Given the description of an element on the screen output the (x, y) to click on. 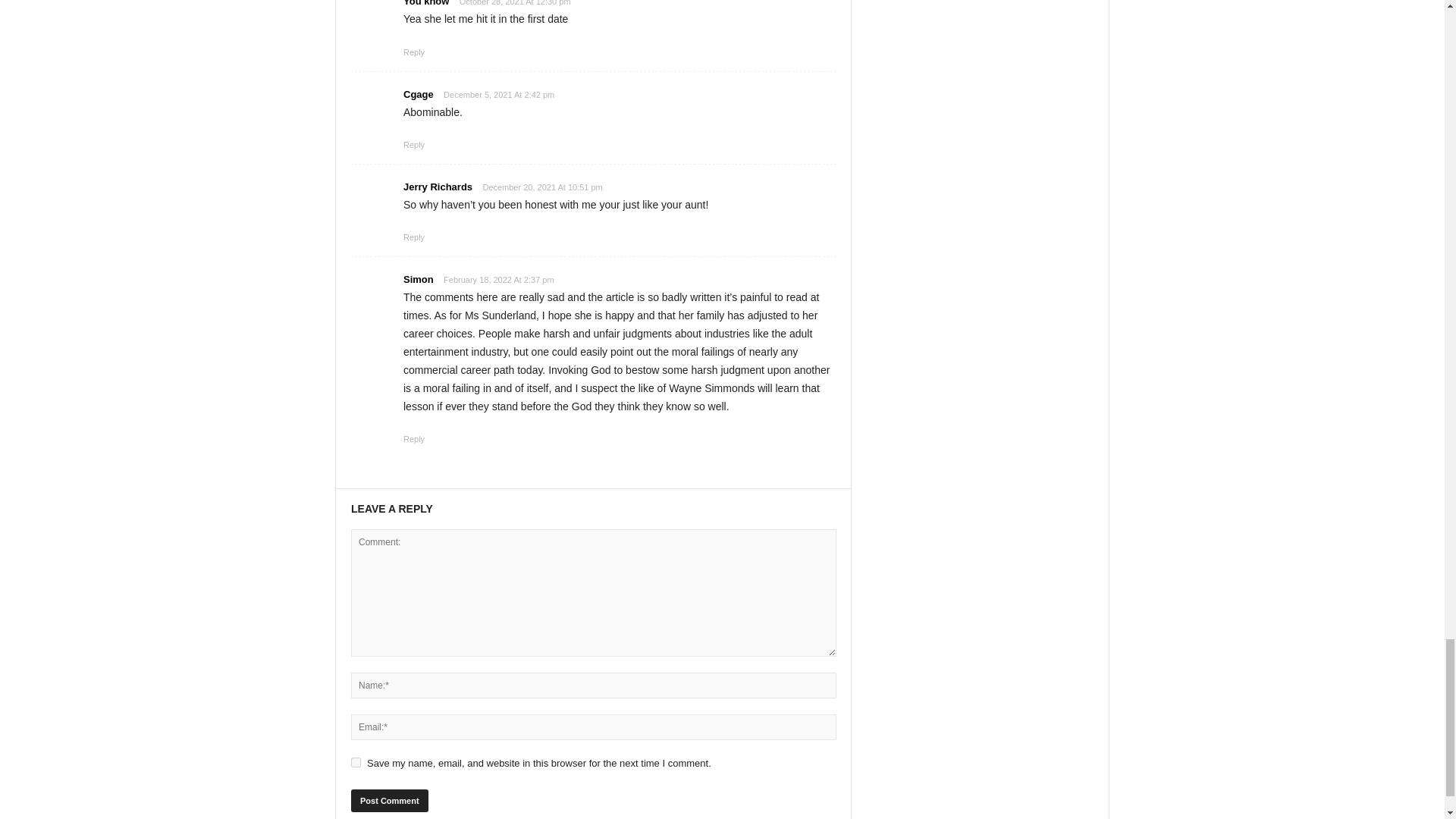
October 28, 2021 At 12:30 pm (515, 4)
yes (355, 762)
December 20, 2021 At 10:51 pm (541, 187)
December 5, 2021 At 2:42 pm (499, 94)
Post Comment (389, 800)
Reply (414, 236)
Reply (414, 438)
Reply (414, 144)
Reply (414, 51)
February 18, 2022 At 2:37 pm (499, 279)
Post Comment (389, 800)
